Given the description of an element on the screen output the (x, y) to click on. 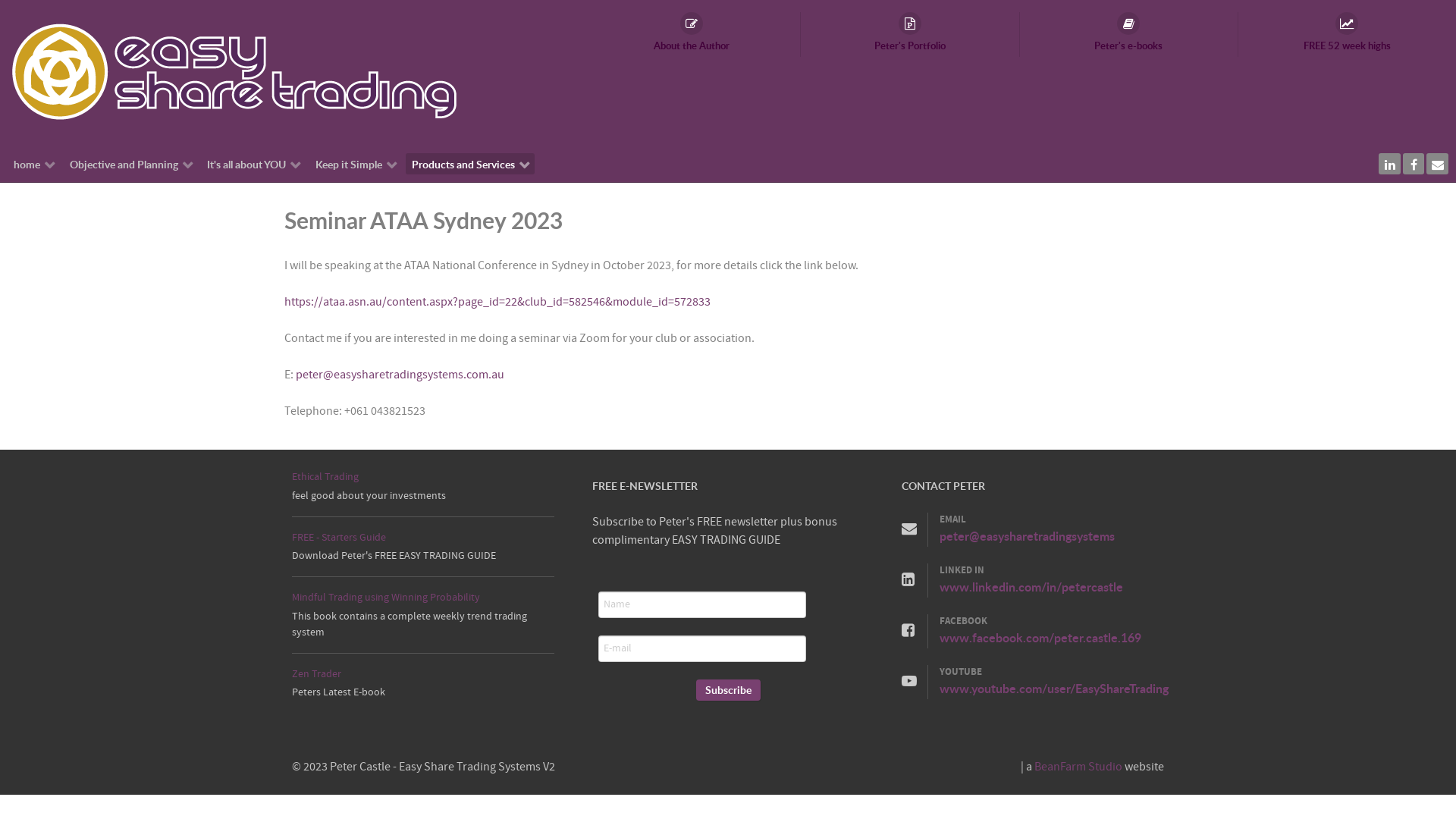
Peter's e-books Element type: text (1128, 34)
E-mail Element type: hover (702, 648)
peter@easysharetradingsystems.com.au Element type: text (399, 374)
It's all about YOU Element type: text (253, 163)
peter@easysharetradingsystems Element type: text (1026, 535)
FREE - Starters Guide Element type: text (338, 537)
Peter's Portfolio Element type: text (909, 34)
Subscribe Element type: text (728, 689)
Name Element type: hover (702, 604)
Keep it Simple Element type: text (356, 163)
Mindful Trading using Winning Probability Element type: text (385, 596)
About the Author Element type: text (691, 34)
BeanFarm Studio Element type: text (1078, 766)
www.facebook.com/peter.castle.169 Element type: text (1040, 637)
www.youtube.com/user/EasyShareTrading Element type: text (1053, 687)
home Element type: text (34, 163)
Ethical Trading Element type: text (324, 476)
Objective and Planning Element type: text (130, 163)
www.linkedin.com/in/petercastle Element type: text (1031, 586)
Zen Trader Element type: text (316, 673)
